Given the description of an element on the screen output the (x, y) to click on. 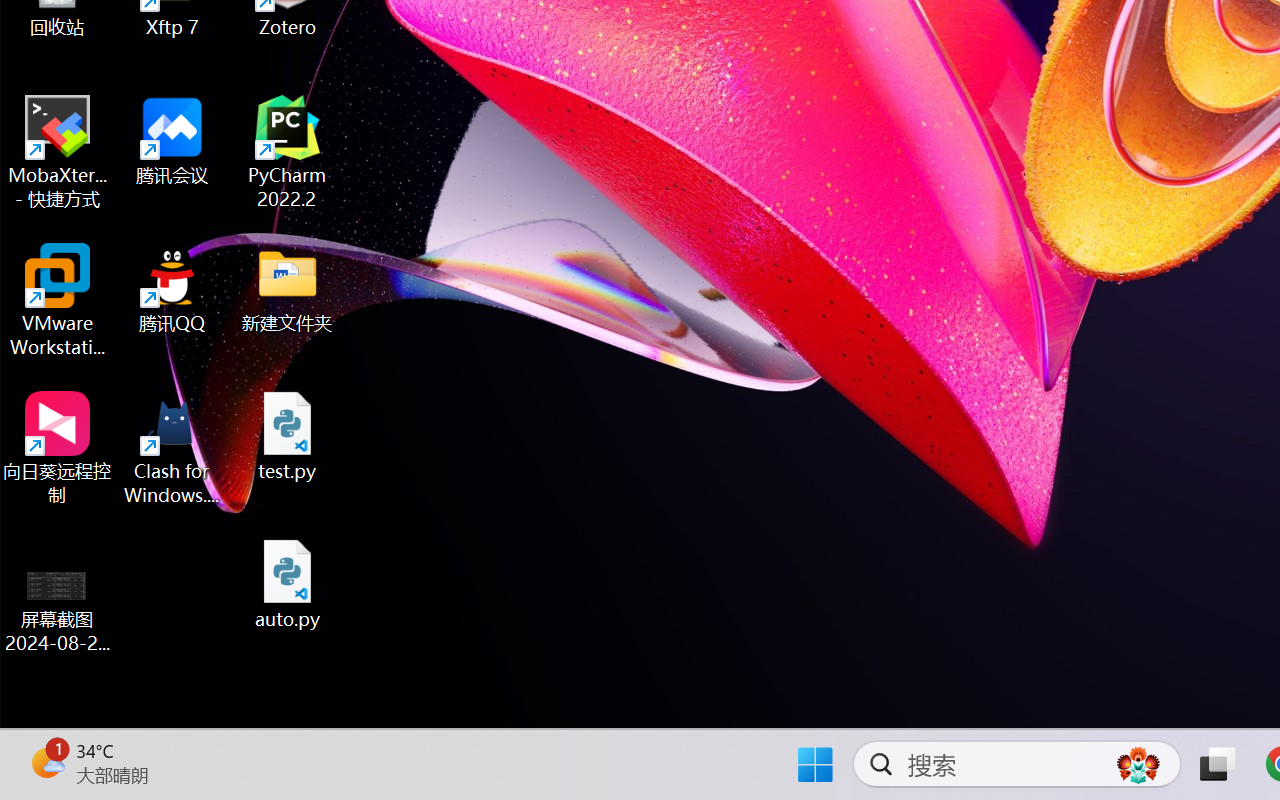
PyCharm 2022.2 (287, 152)
